Given the description of an element on the screen output the (x, y) to click on. 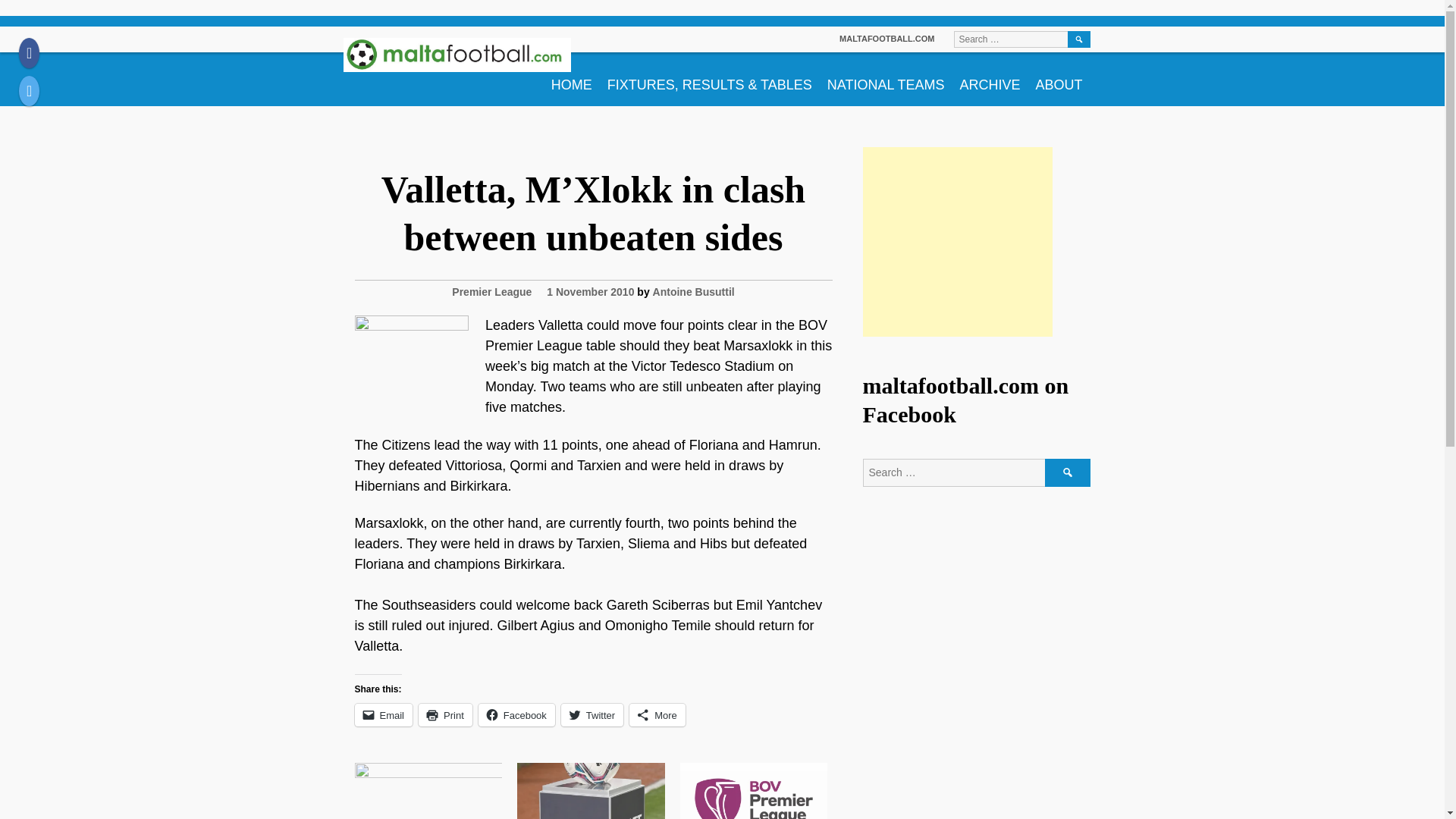
HOME (571, 79)
MALTAFOOTBALL.COM (887, 38)
Click to print (445, 714)
Victor Tedesco Stadium (411, 372)
ARCHIVE (989, 79)
NATIONAL TEAMS (885, 79)
Click to share on Facebook (516, 714)
Click to share on Twitter (591, 714)
Click to email a link to a friend (384, 714)
Citizens hope to extend lead (428, 790)
Search (1078, 39)
